Given the description of an element on the screen output the (x, y) to click on. 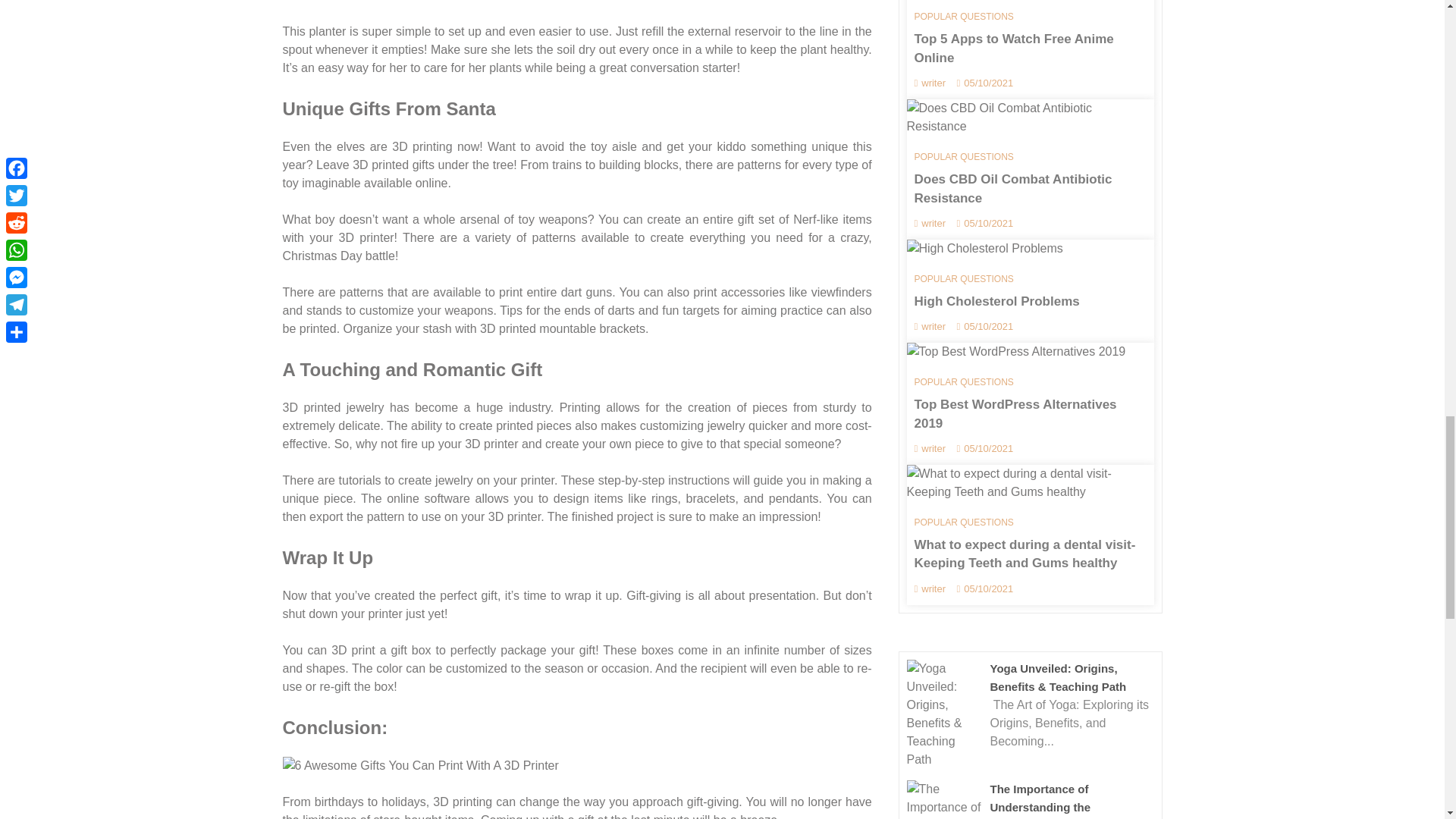
6 Awesome Gifts You Can Print With A 3D Printer (419, 765)
